Given the description of an element on the screen output the (x, y) to click on. 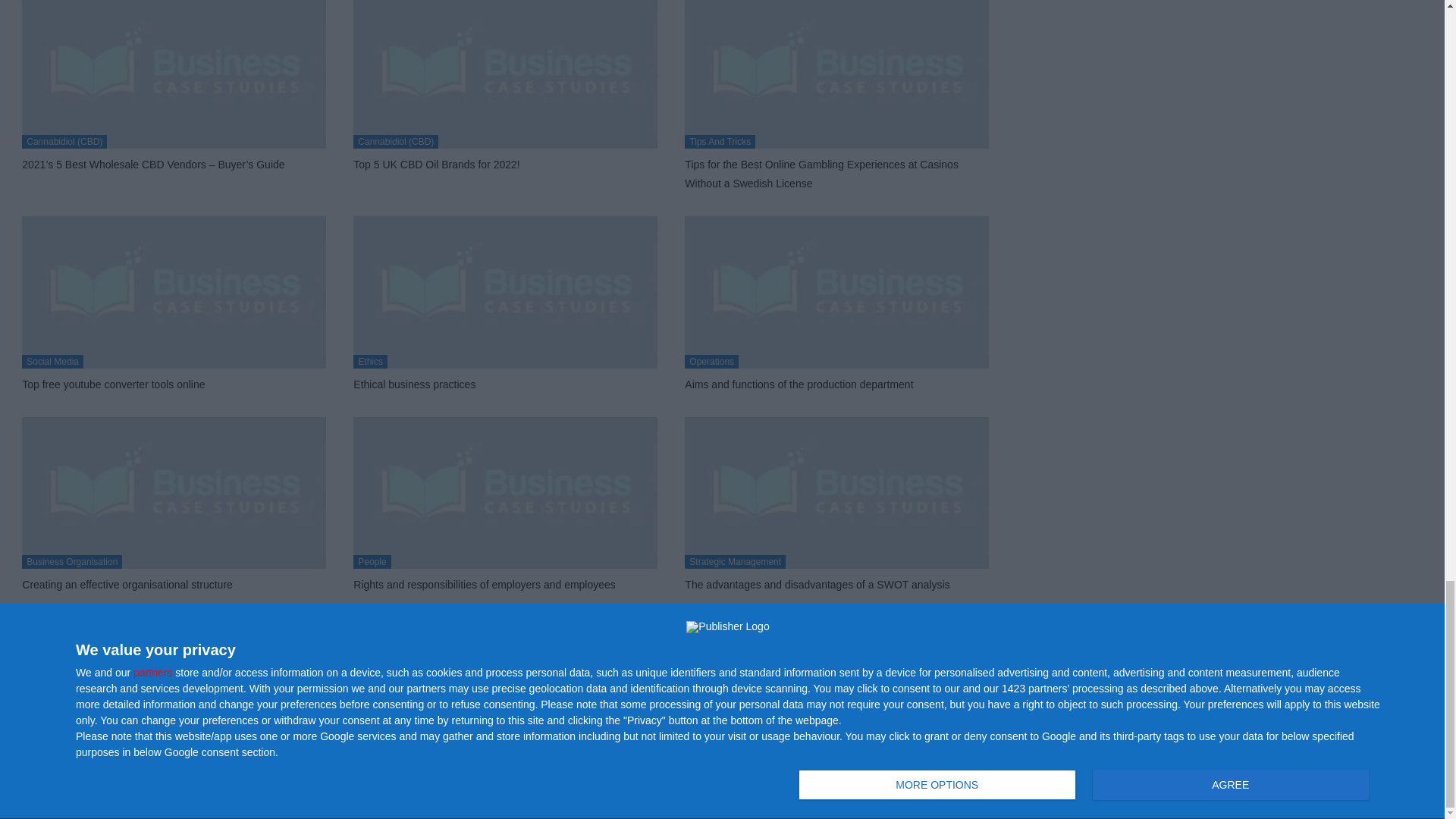
Top 5 UK CBD Oil Brands for 2022! (436, 164)
Top 5 UK CBD Oil Brands for 2022! (505, 74)
